Given the description of an element on the screen output the (x, y) to click on. 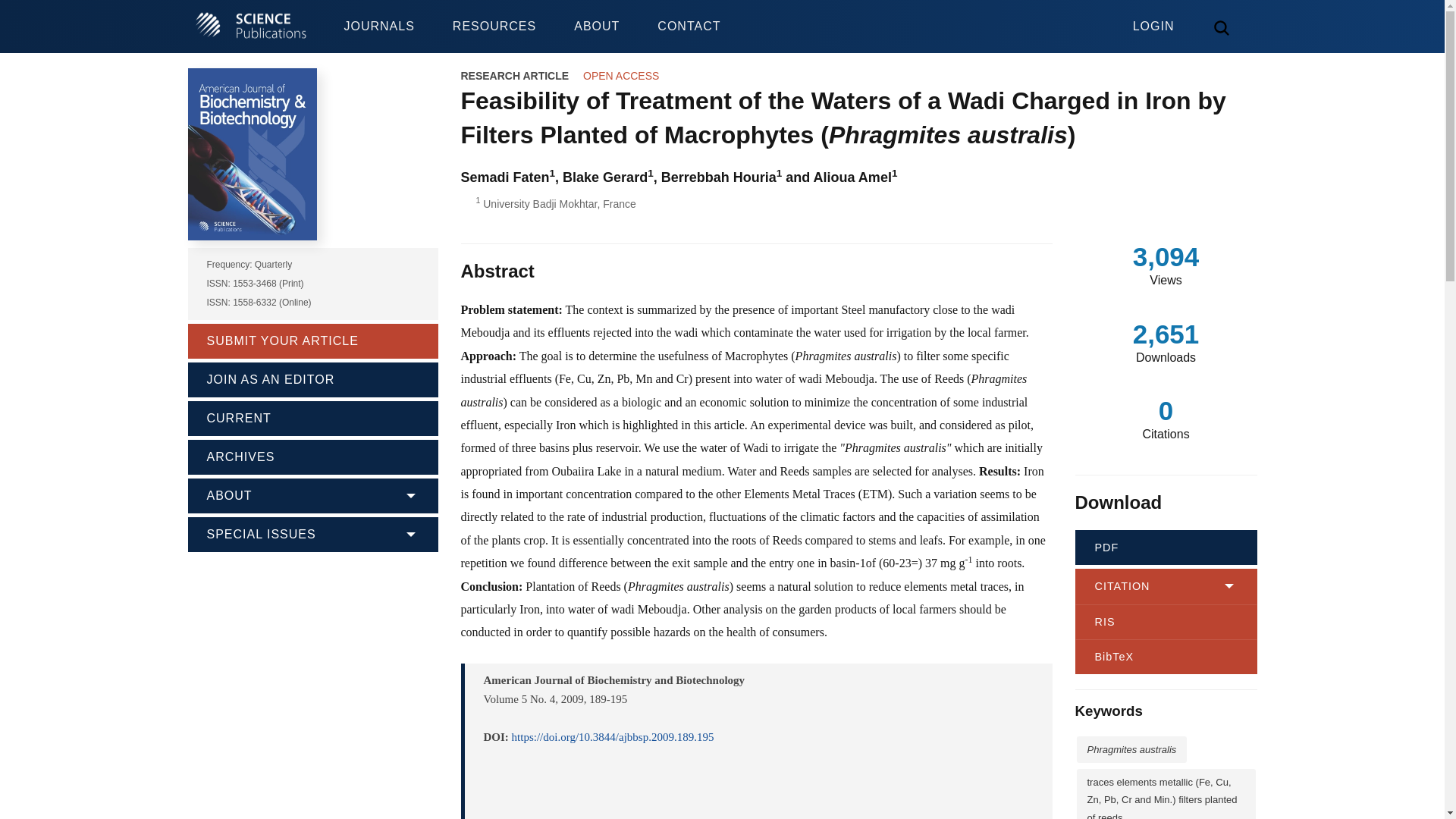
SUBMIT YOUR ARTICLE (312, 339)
LOGIN (1153, 17)
ABOUT (312, 494)
JOURNALS (378, 26)
Science Publications (250, 26)
PDF (1166, 547)
CONTACT (689, 26)
CURRENT (312, 416)
BibTeX (1166, 656)
ABOUT (596, 26)
ARCHIVES (312, 455)
RIS (1166, 621)
SPECIAL ISSUES (312, 532)
JOIN AS AN EDITOR (312, 377)
CITATION (1166, 585)
